Given the description of an element on the screen output the (x, y) to click on. 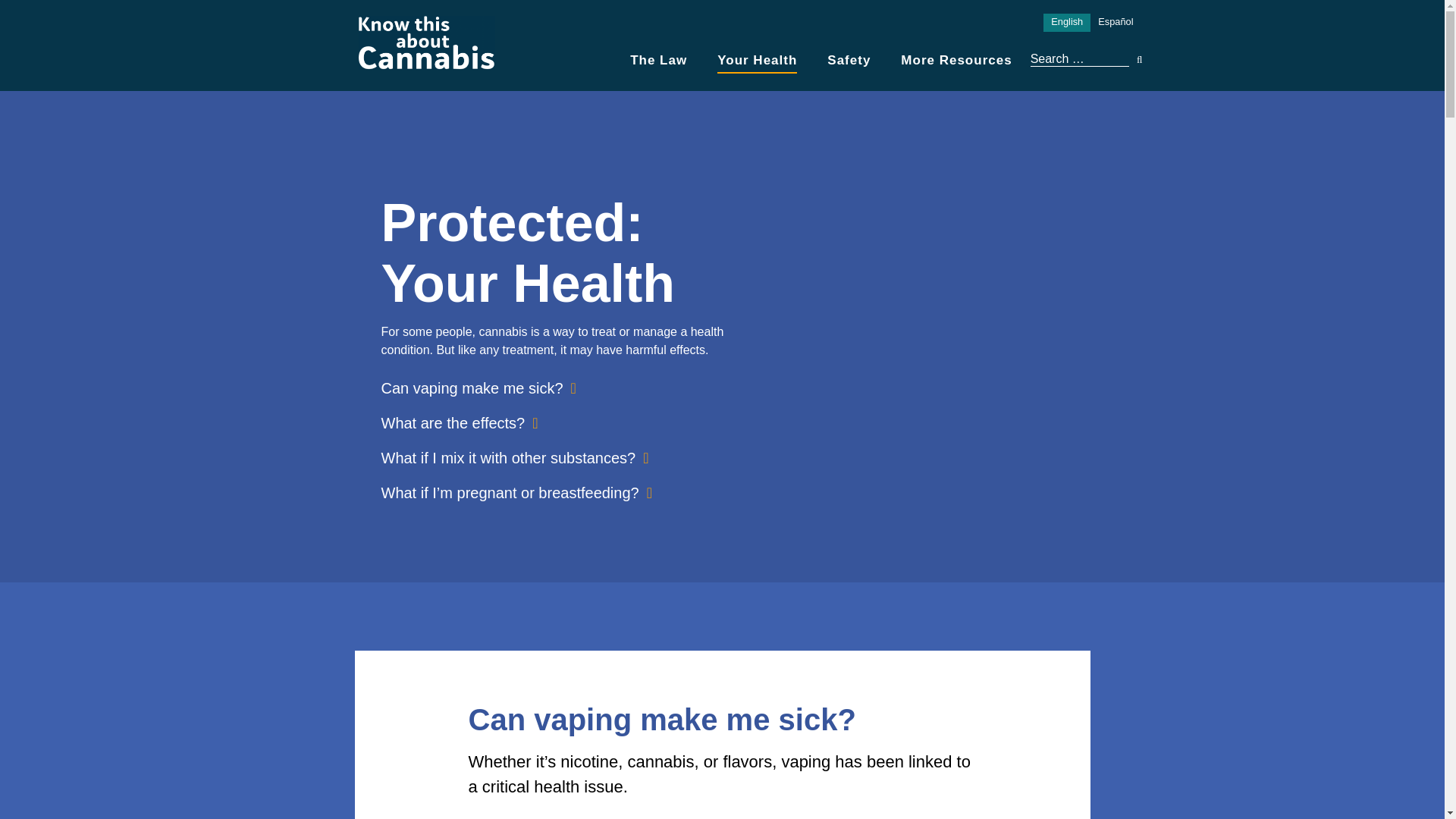
English (1066, 22)
What are the effects? (458, 422)
Safety (848, 60)
Your Health (756, 63)
More Resources (956, 60)
Can vaping make me sick? (477, 388)
Search for: (1079, 59)
What if I mix it with other substances? (513, 457)
The Law (658, 60)
